Given the description of an element on the screen output the (x, y) to click on. 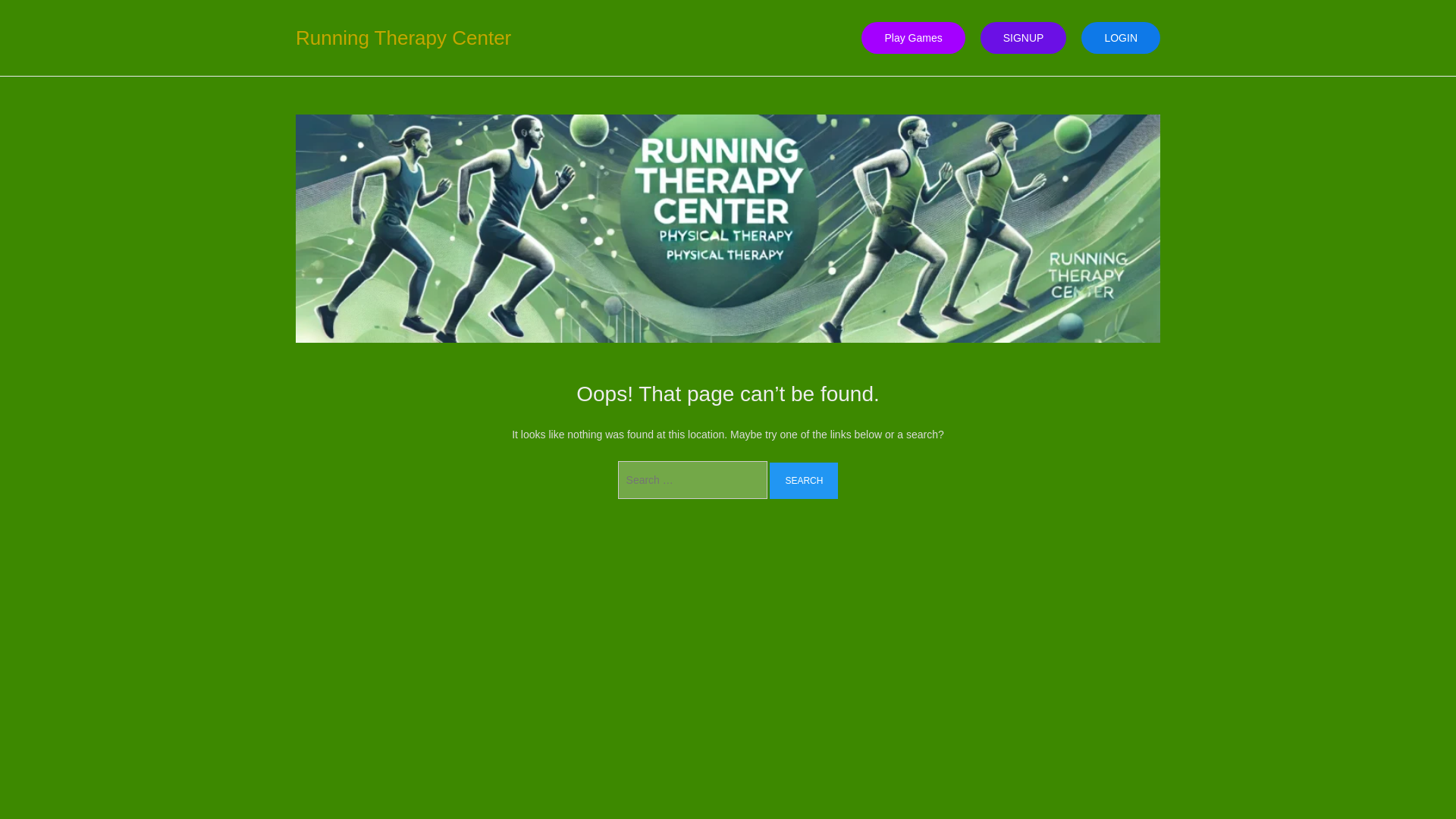
LOGIN (1120, 38)
Play Games (912, 38)
Search (804, 480)
Search (804, 480)
SIGNUP (1023, 38)
Running Therapy Center (403, 37)
Search (804, 480)
